Given the description of an element on the screen output the (x, y) to click on. 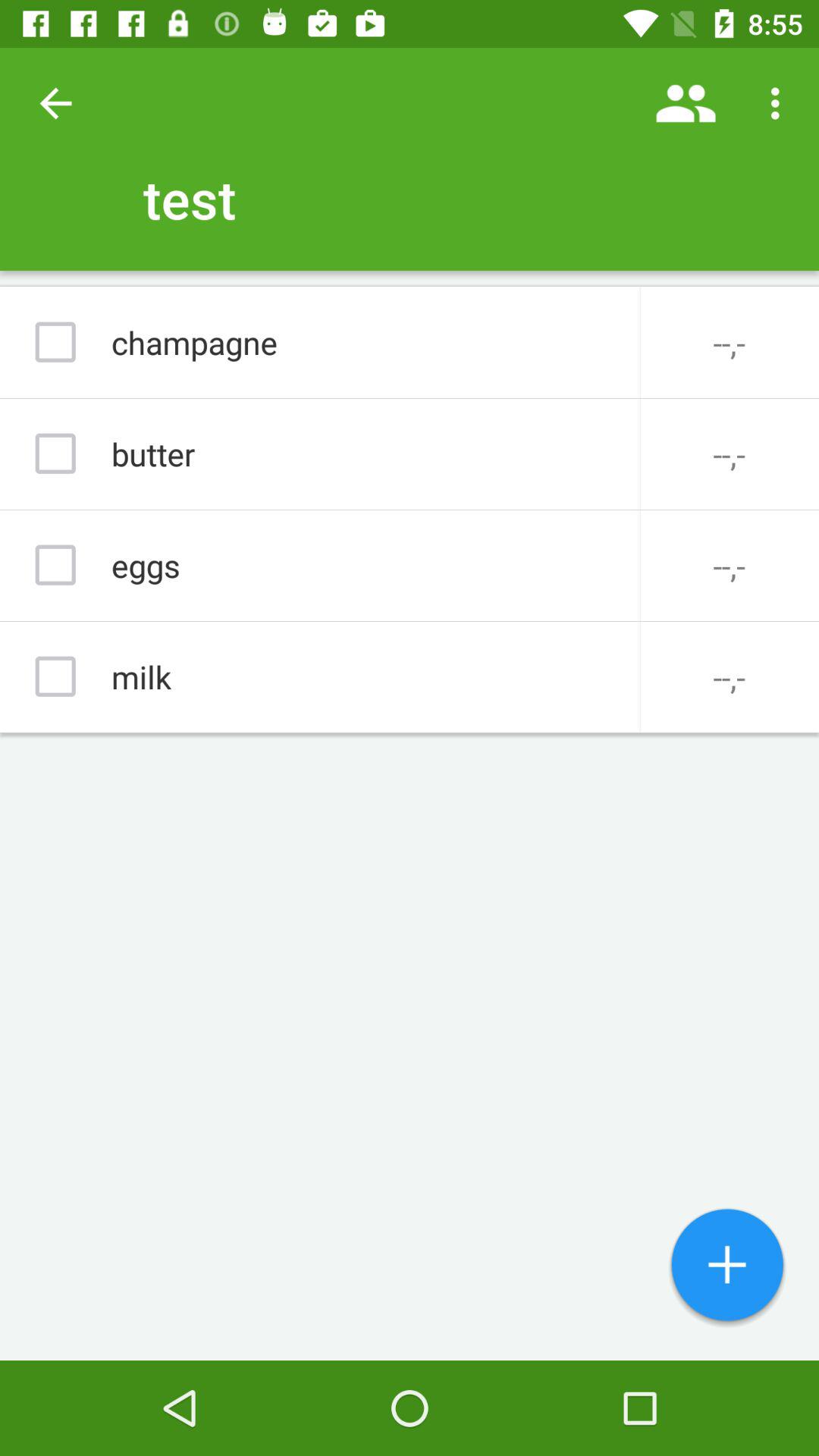
turn off the item at the bottom right corner (727, 1266)
